Given the description of an element on the screen output the (x, y) to click on. 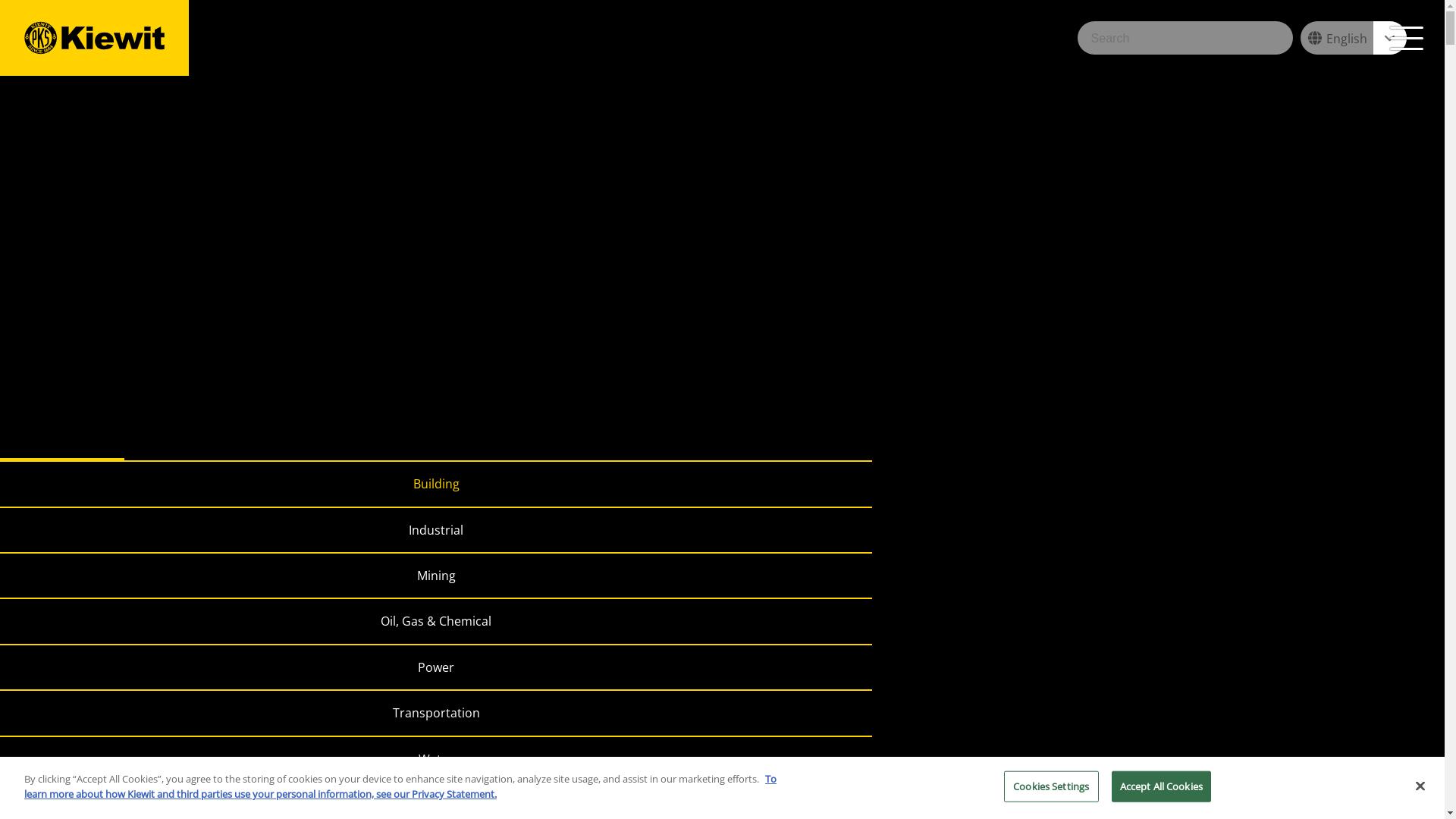
Water Element type: text (436, 757)
Kiewit Corporation Element type: hover (94, 37)
Accept All Cookies Element type: text (1161, 787)
English Element type: text (1353, 37)
Industrial Element type: text (436, 528)
Menu Element type: text (1406, 37)
Building Element type: text (436, 481)
Oil, Gas & Chemical Element type: text (436, 619)
Transportation Element type: text (436, 710)
Mining Element type: text (436, 573)
Cookies Settings Element type: text (1051, 787)
Power Element type: text (436, 665)
